Given the description of an element on the screen output the (x, y) to click on. 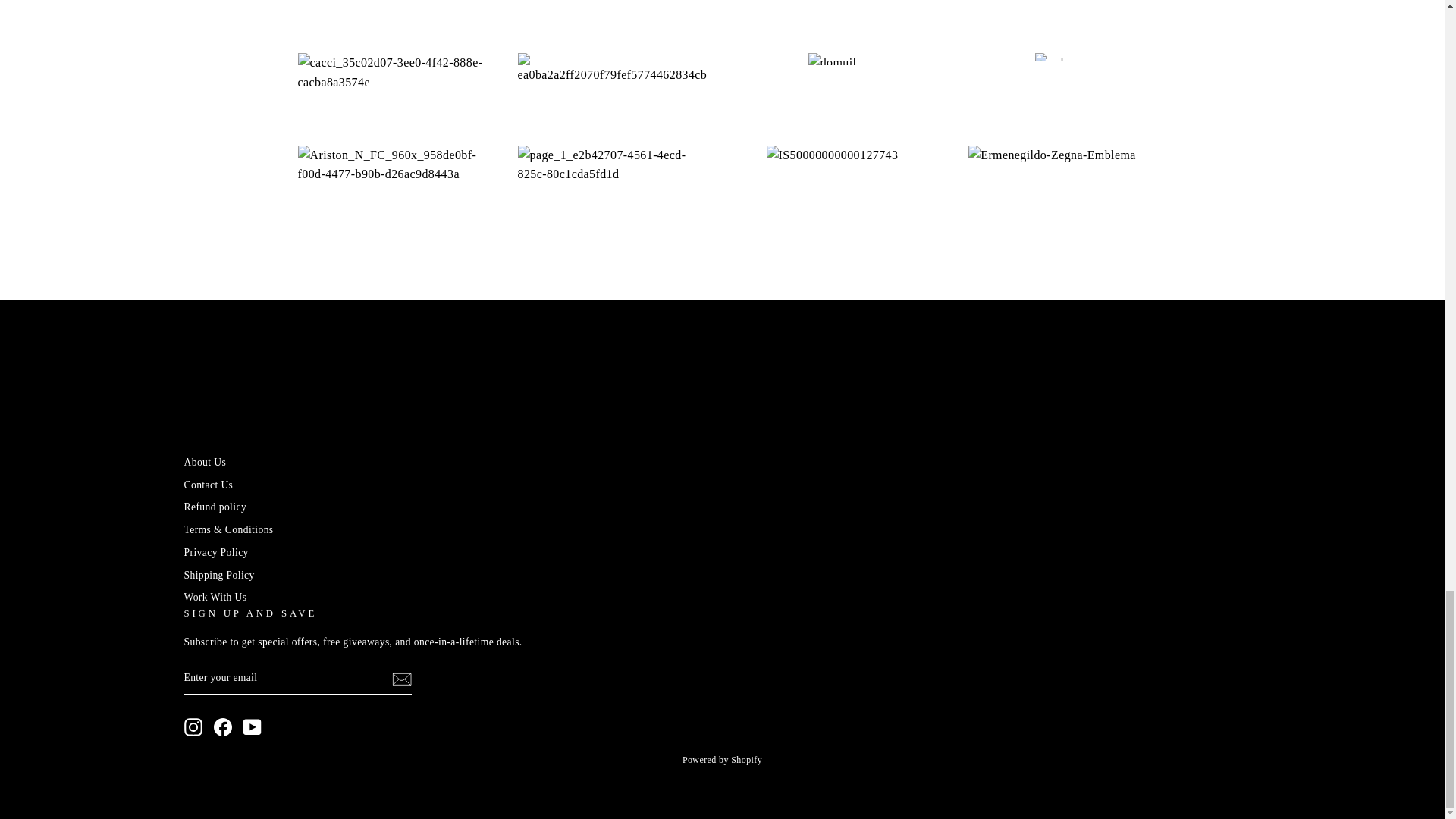
Bhasin Brothers on YouTube (251, 726)
icon-email (400, 679)
Bhasin Brothers on Instagram (192, 726)
Bhasin Brothers on Facebook (222, 726)
instagram (192, 726)
